Given the description of an element on the screen output the (x, y) to click on. 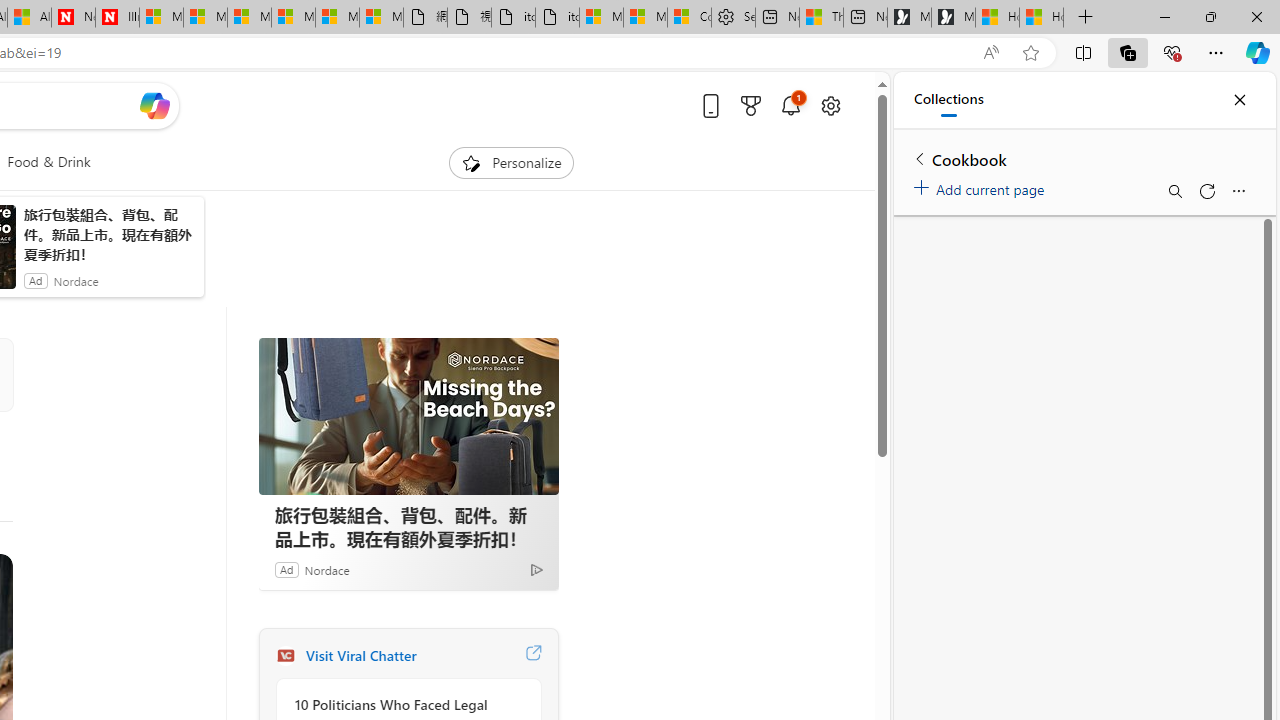
itconcepthk.com/projector_solutions.mp4 (557, 17)
Open settings (830, 105)
Read aloud this page (Ctrl+Shift+U) (991, 53)
To get missing image descriptions, open the context menu. (471, 162)
Open Copilot (155, 105)
How to Use a TV as a Computer Monitor (1041, 17)
Newsweek - News, Analysis, Politics, Business, Technology (73, 17)
Microsoft Services Agreement (205, 17)
Add current page (982, 186)
Add this page to favorites (Ctrl+D) (1030, 53)
New tab (865, 17)
